Given the description of an element on the screen output the (x, y) to click on. 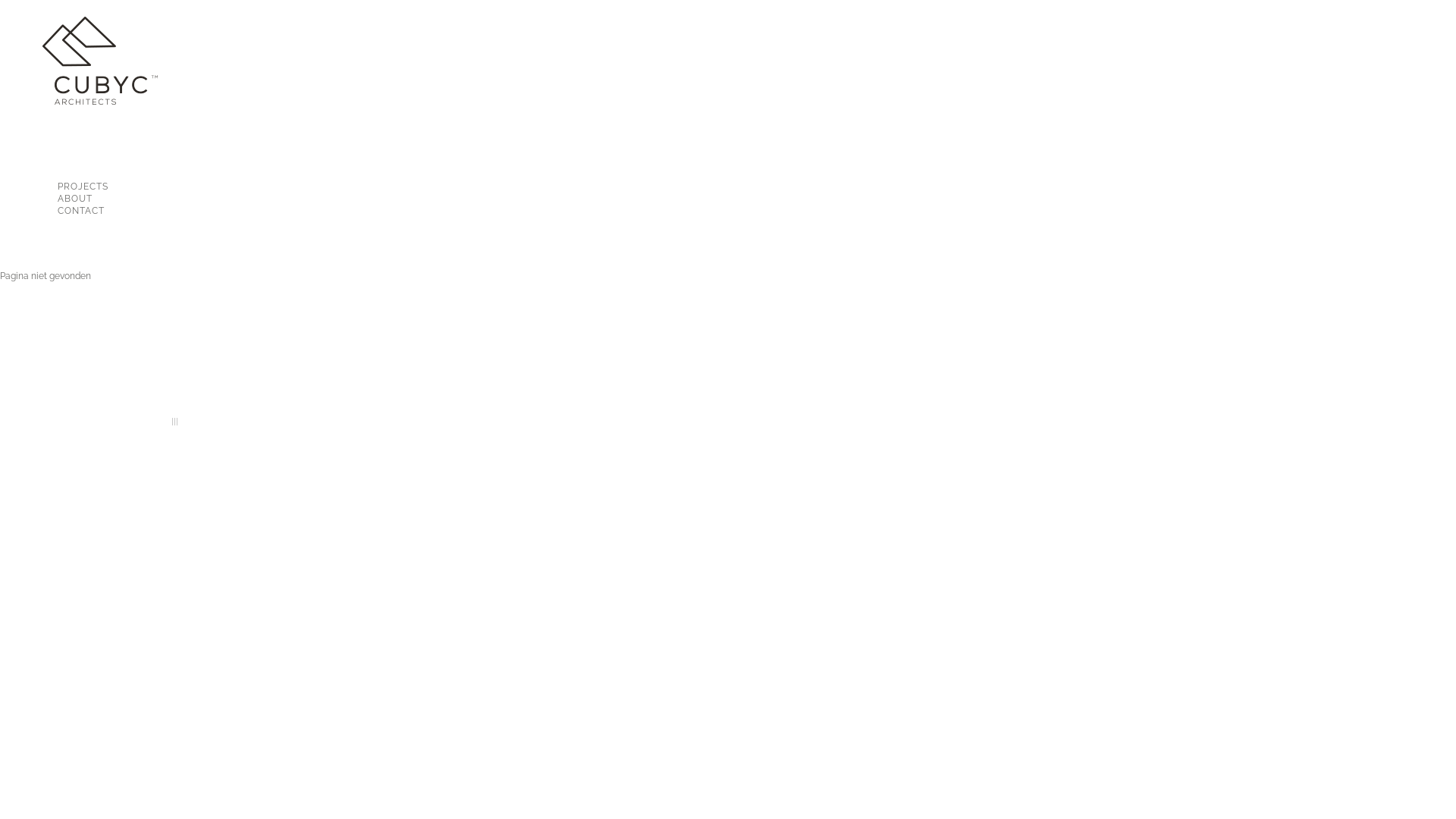
ABOUT Element type: text (97, 198)
PROJECTS Element type: text (97, 186)
CONTACT Element type: text (97, 210)
